Given the description of an element on the screen output the (x, y) to click on. 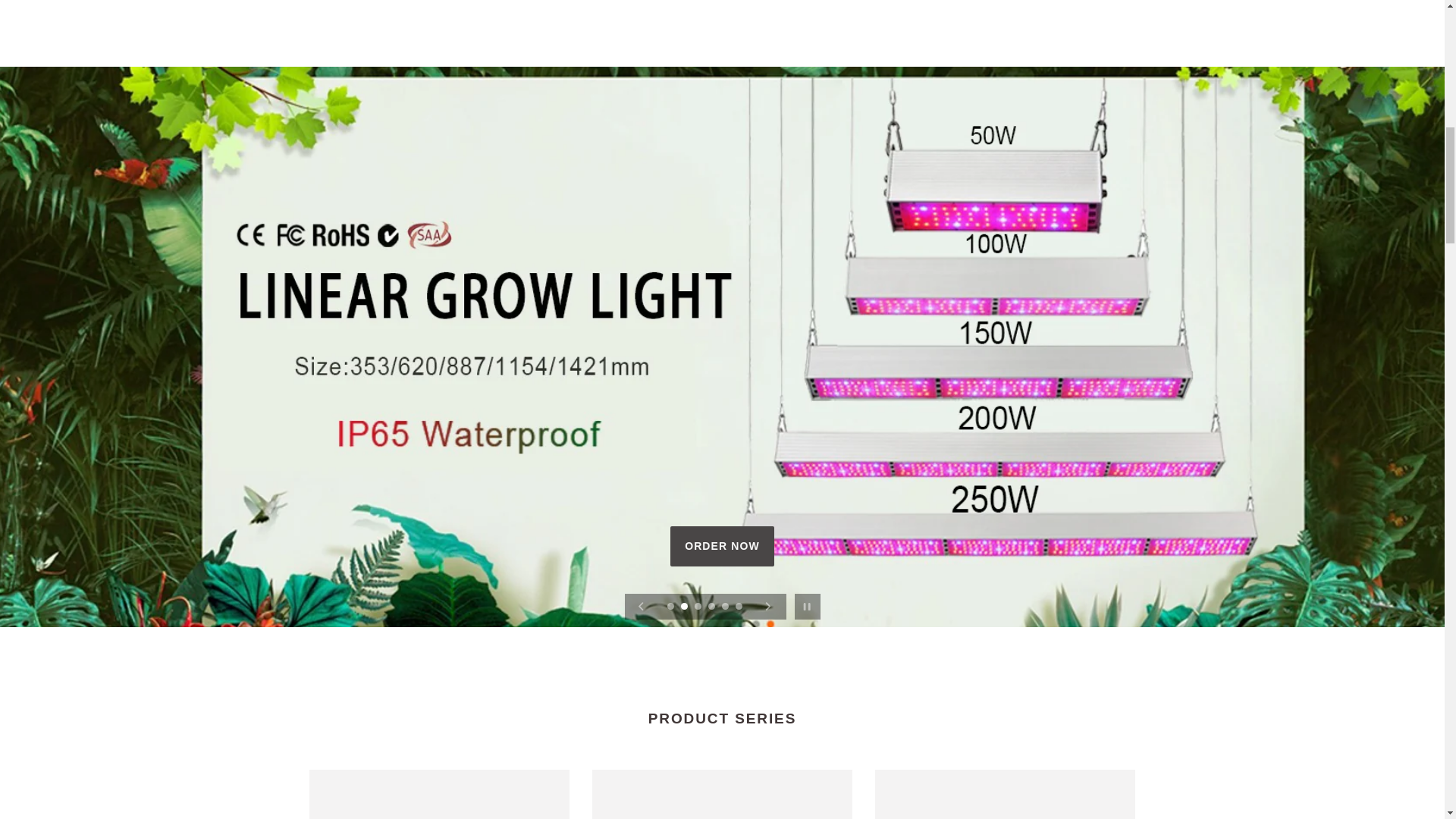
Pause slideshow (807, 606)
ORDER NOW (721, 546)
